Given the description of an element on the screen output the (x, y) to click on. 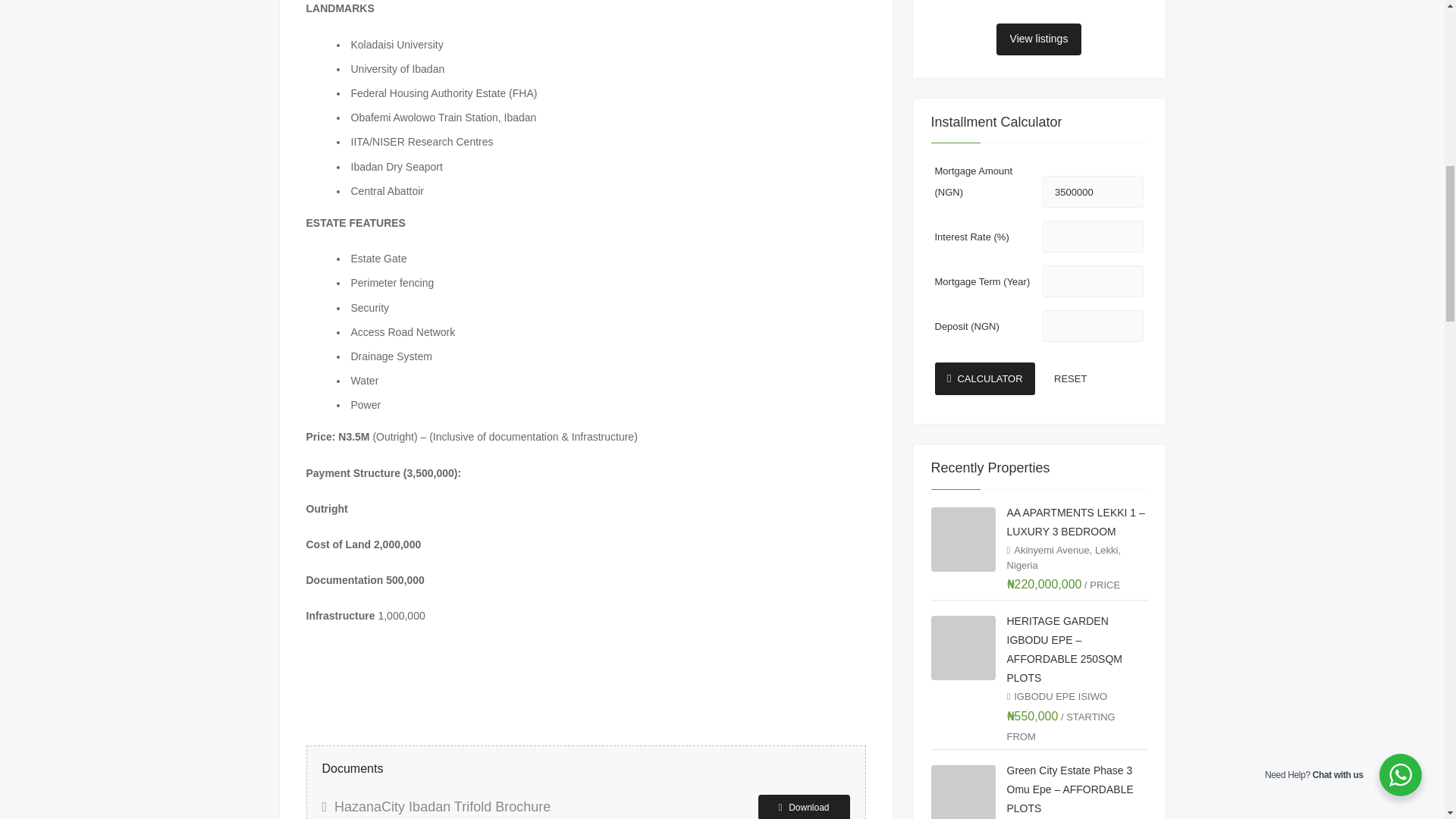
3500000 (1092, 192)
Download (803, 806)
Reset (1092, 378)
